Given the description of an element on the screen output the (x, y) to click on. 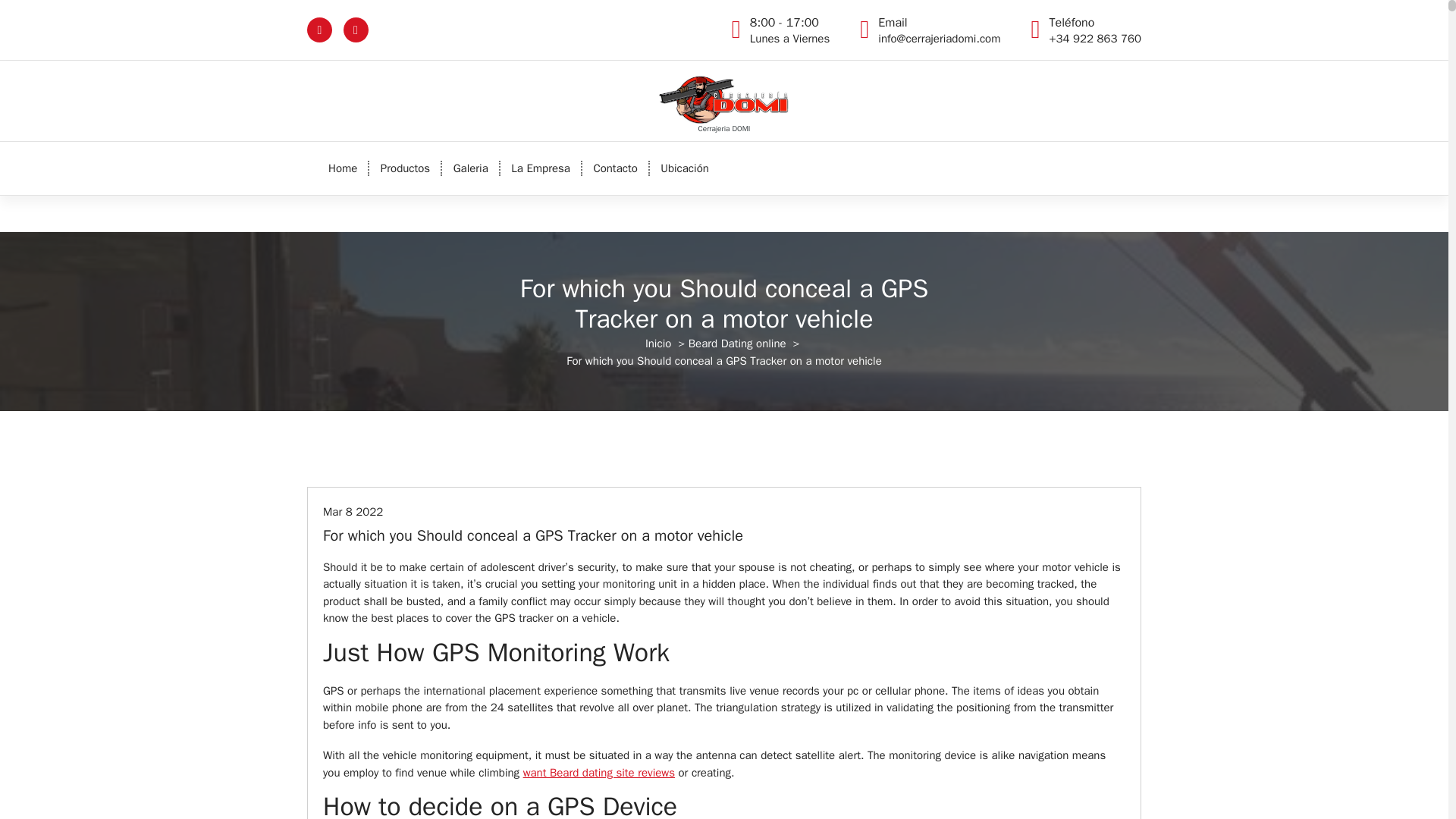
Mar 8 2022 (352, 511)
Beard Dating online (737, 343)
Contacto (614, 167)
Productos (405, 167)
Home (342, 167)
Galeria (470, 167)
Inicio (789, 30)
Galeria (658, 343)
Contacto (470, 167)
La Empresa (614, 167)
La Empresa (540, 167)
Home (540, 167)
Productos (342, 167)
want Beard dating site reviews (405, 167)
